Given the description of an element on the screen output the (x, y) to click on. 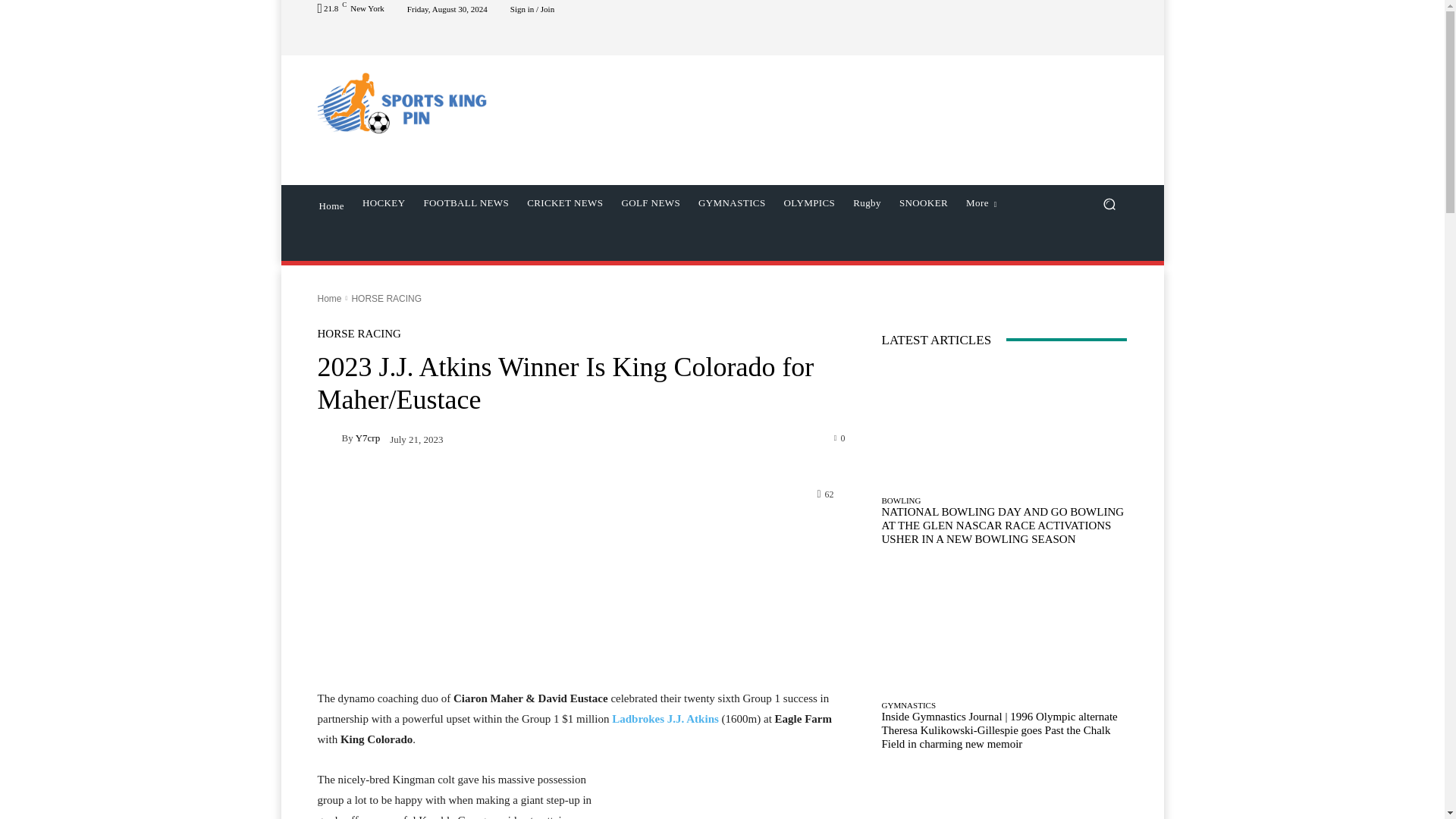
FOOTBALL NEWS (465, 203)
Rugby (866, 203)
HOCKEY (383, 203)
GYMNASTICS (731, 203)
More (981, 203)
Home (330, 204)
SNOOKER (922, 203)
y7crp (328, 437)
View all posts in HORSE RACING (386, 297)
GOLF NEWS (649, 203)
